Given the description of an element on the screen output the (x, y) to click on. 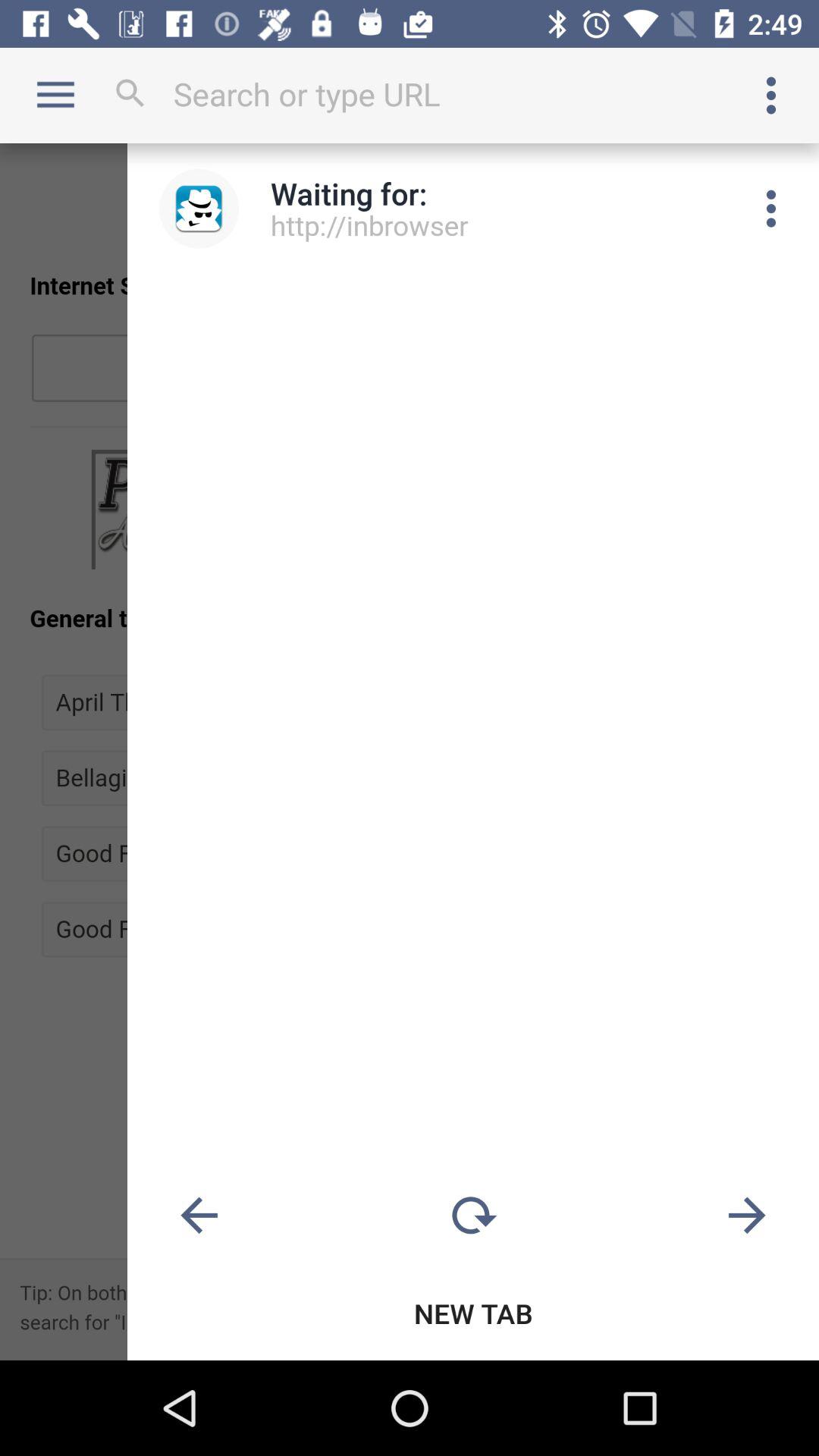
tap icon below http://inbrowser (472, 1216)
